Given the description of an element on the screen output the (x, y) to click on. 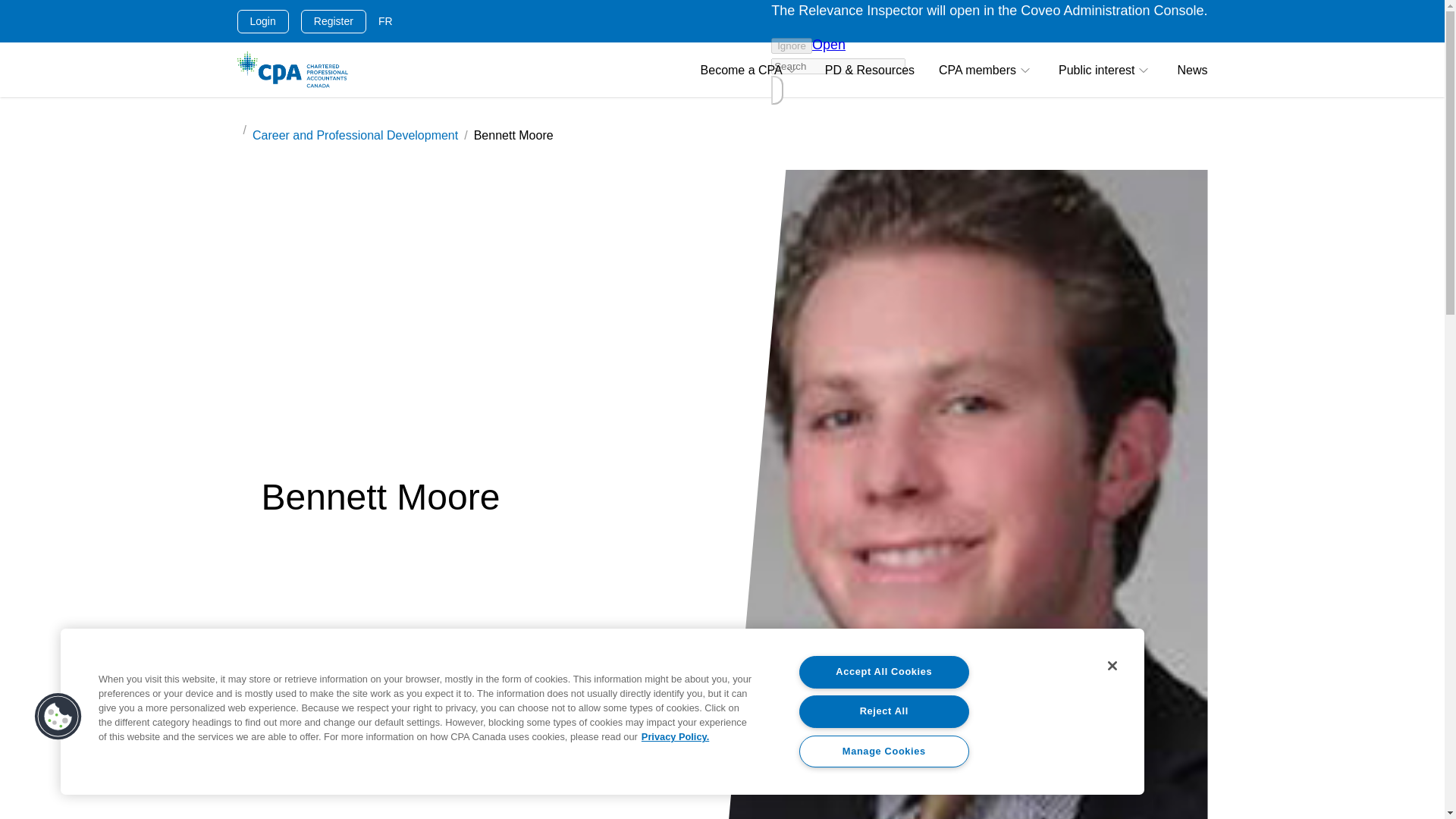
Public interest (1105, 69)
Become a CPA (750, 69)
CPA members (986, 69)
Cookies Button (57, 717)
CPA (291, 69)
Career and Professional Development (354, 134)
Register (333, 20)
News (1191, 69)
FR (385, 21)
Login (261, 20)
News (1191, 69)
